Given the description of an element on the screen output the (x, y) to click on. 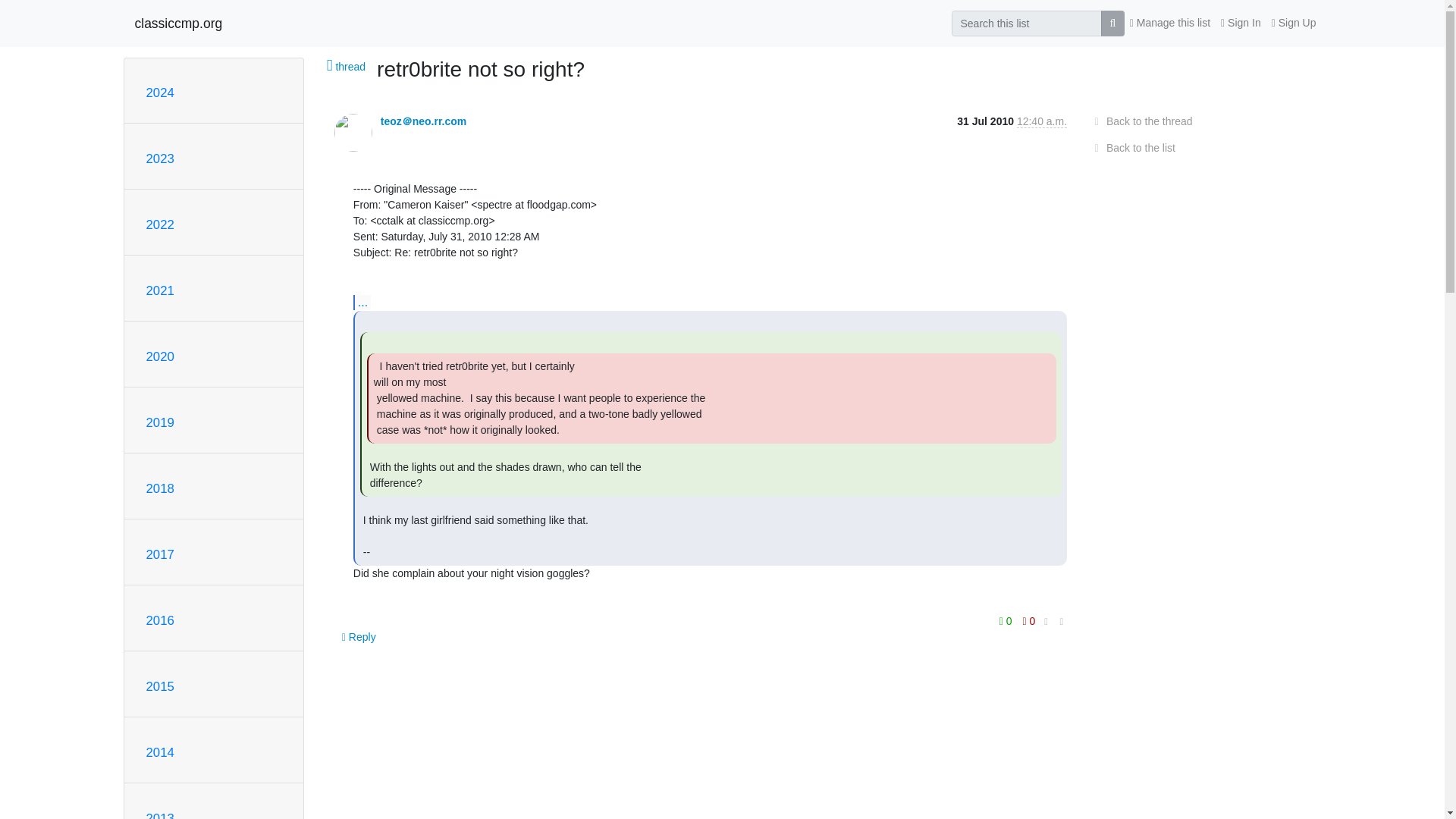
Manage this list (1169, 22)
2022 (159, 224)
Display in fixed font (1046, 621)
classiccmp.org (178, 22)
Permalink for this message (1061, 621)
Sign in to reply online (359, 636)
Sign In (1240, 22)
You must be logged-in to vote. (1007, 620)
2023 (159, 158)
You must be logged-in to vote. (1029, 620)
Sign Up (1294, 22)
Sender's time: July 31, 2010, 12:40 a.m. (1041, 121)
2024 (159, 92)
